Given the description of an element on the screen output the (x, y) to click on. 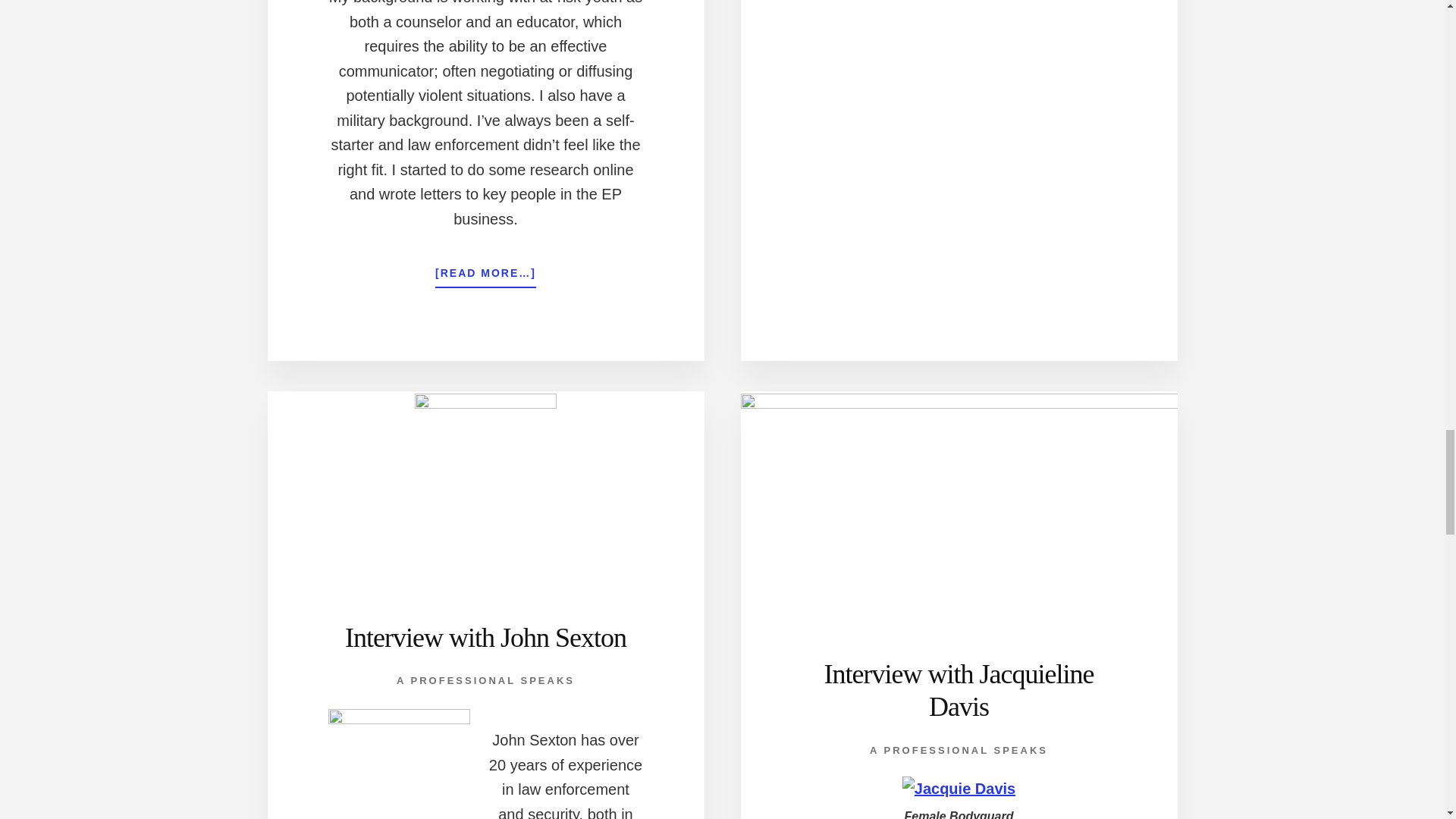
Interview with John Sexton (485, 637)
sexton-pic (397, 762)
A PROFESSIONAL SPEAKS (485, 680)
A PROFESSIONAL SPEAKS (958, 749)
Interview with Jacquieline Davis (959, 690)
